Given the description of an element on the screen output the (x, y) to click on. 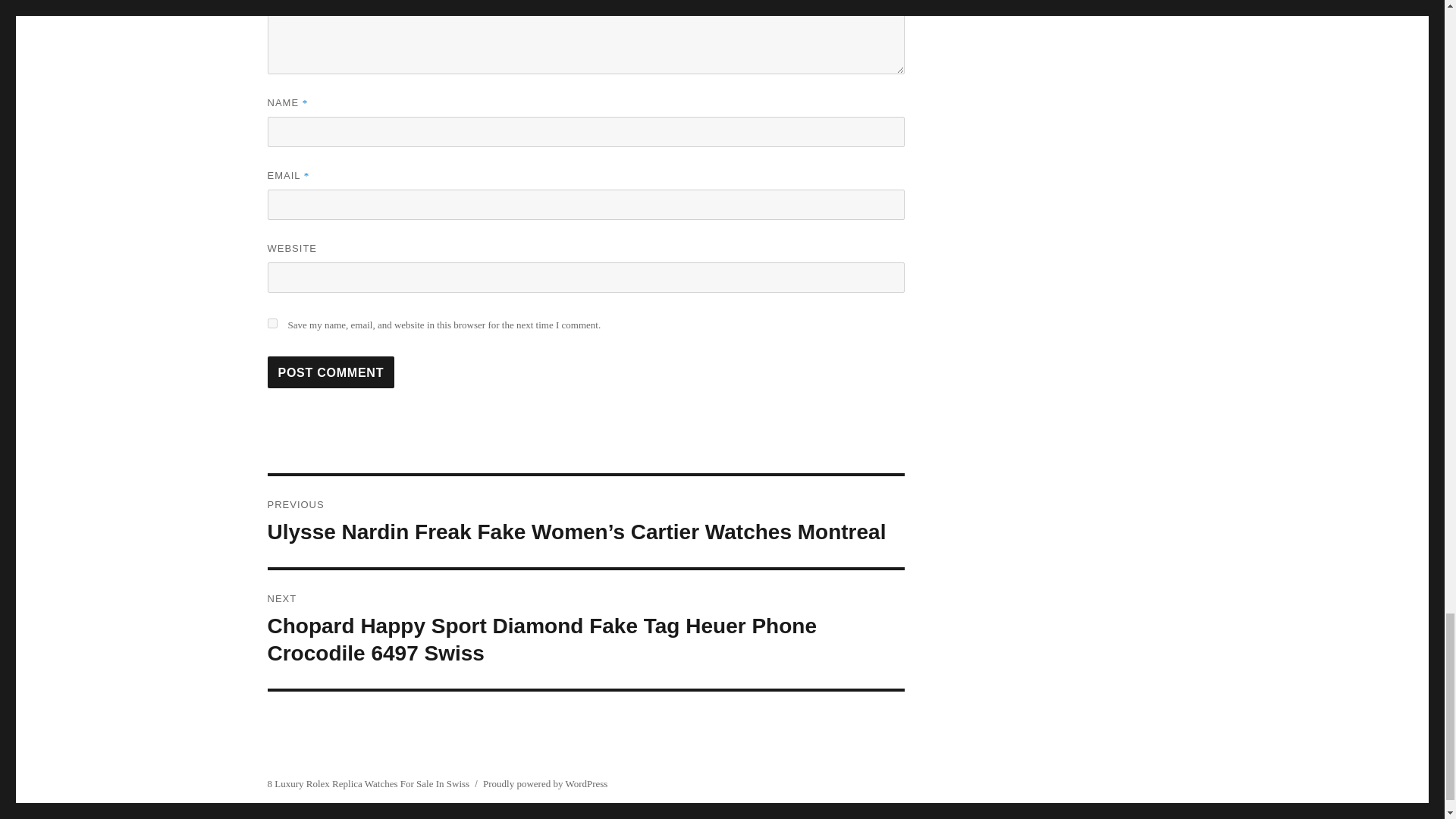
yes (271, 323)
Post Comment (330, 372)
Post Comment (330, 372)
